Given the description of an element on the screen output the (x, y) to click on. 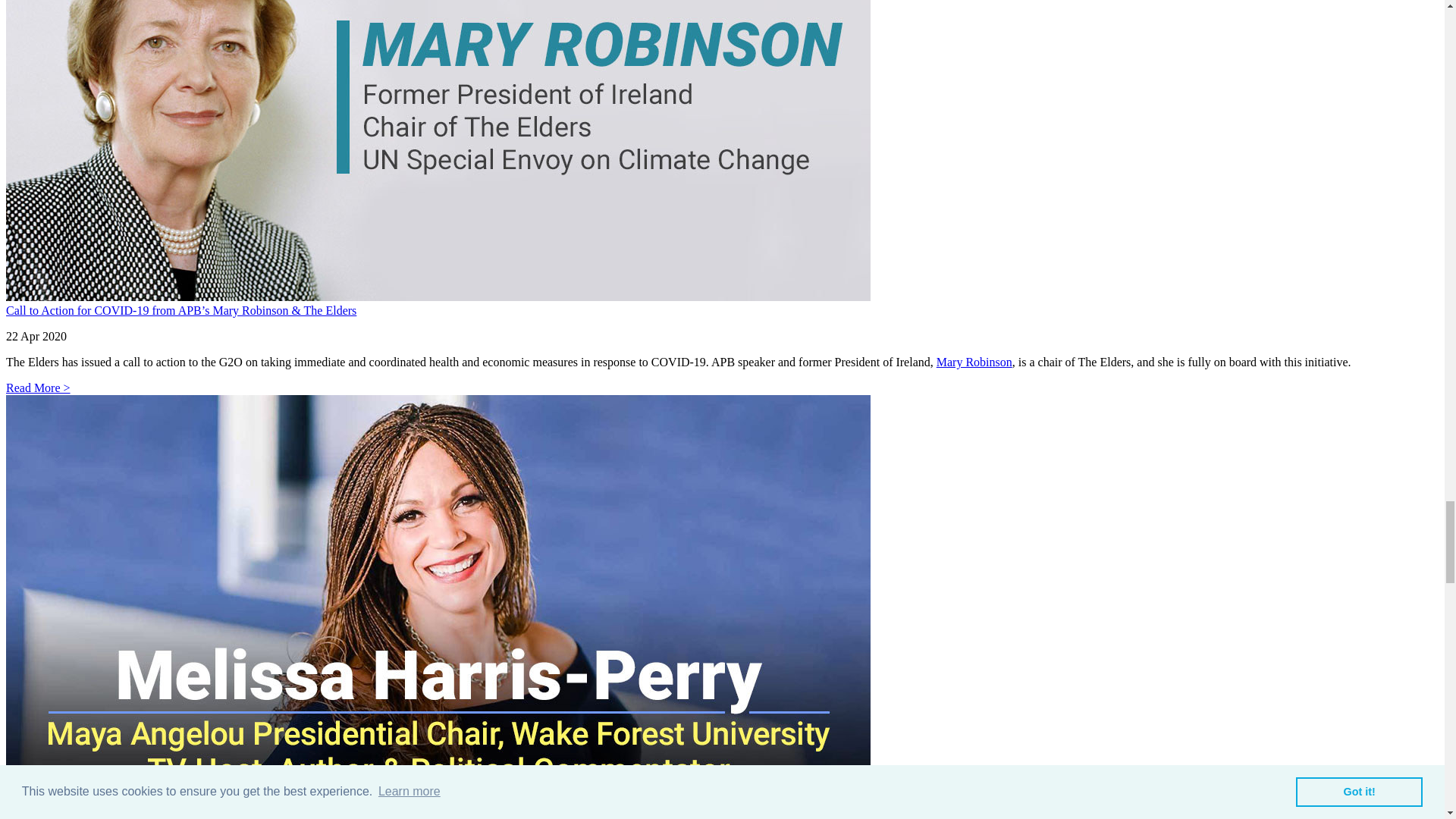
Mary Robinson (973, 361)
